Given the description of an element on the screen output the (x, y) to click on. 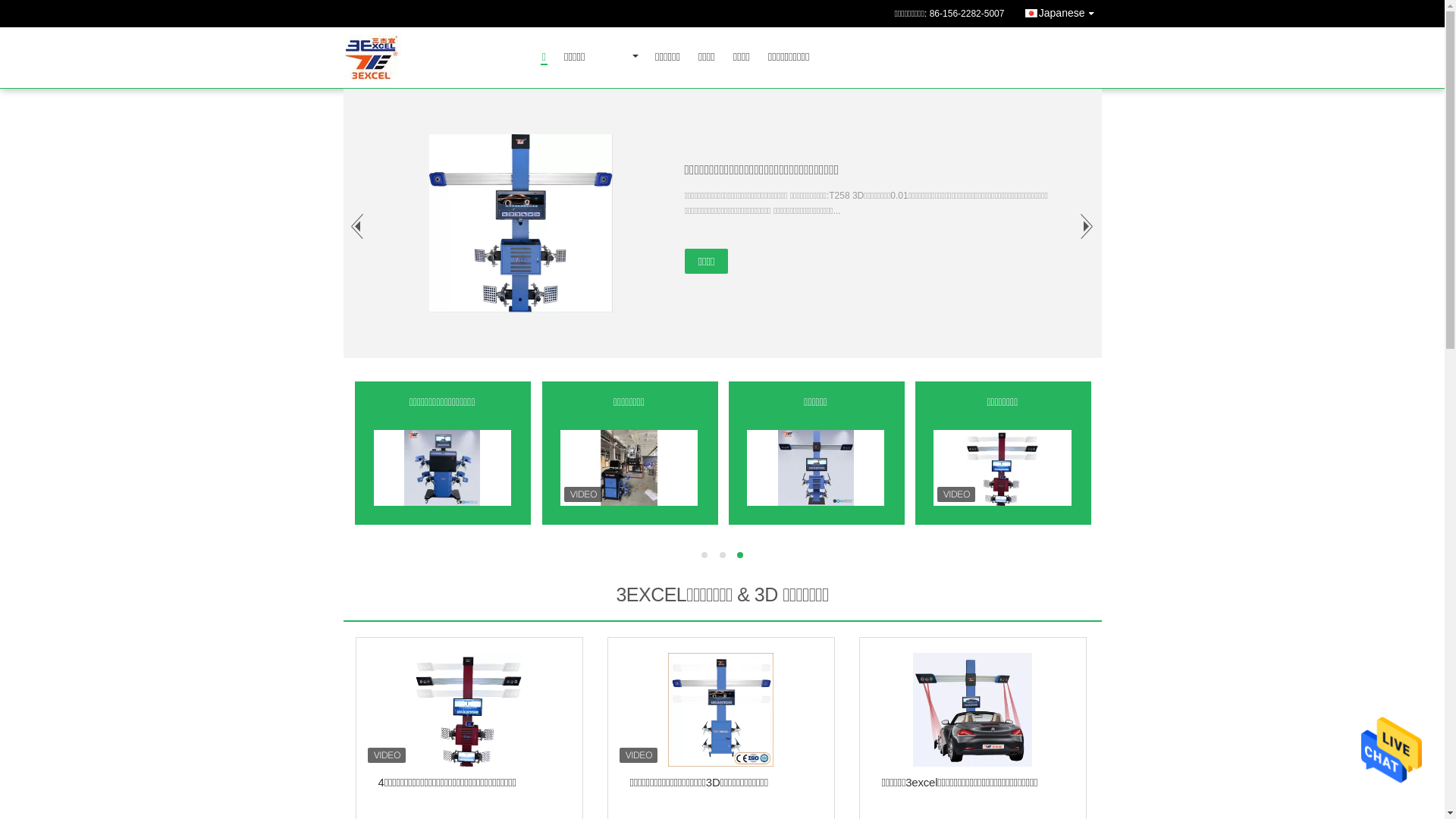
Japanese Element type: text (1061, 11)
